Given the description of an element on the screen output the (x, y) to click on. 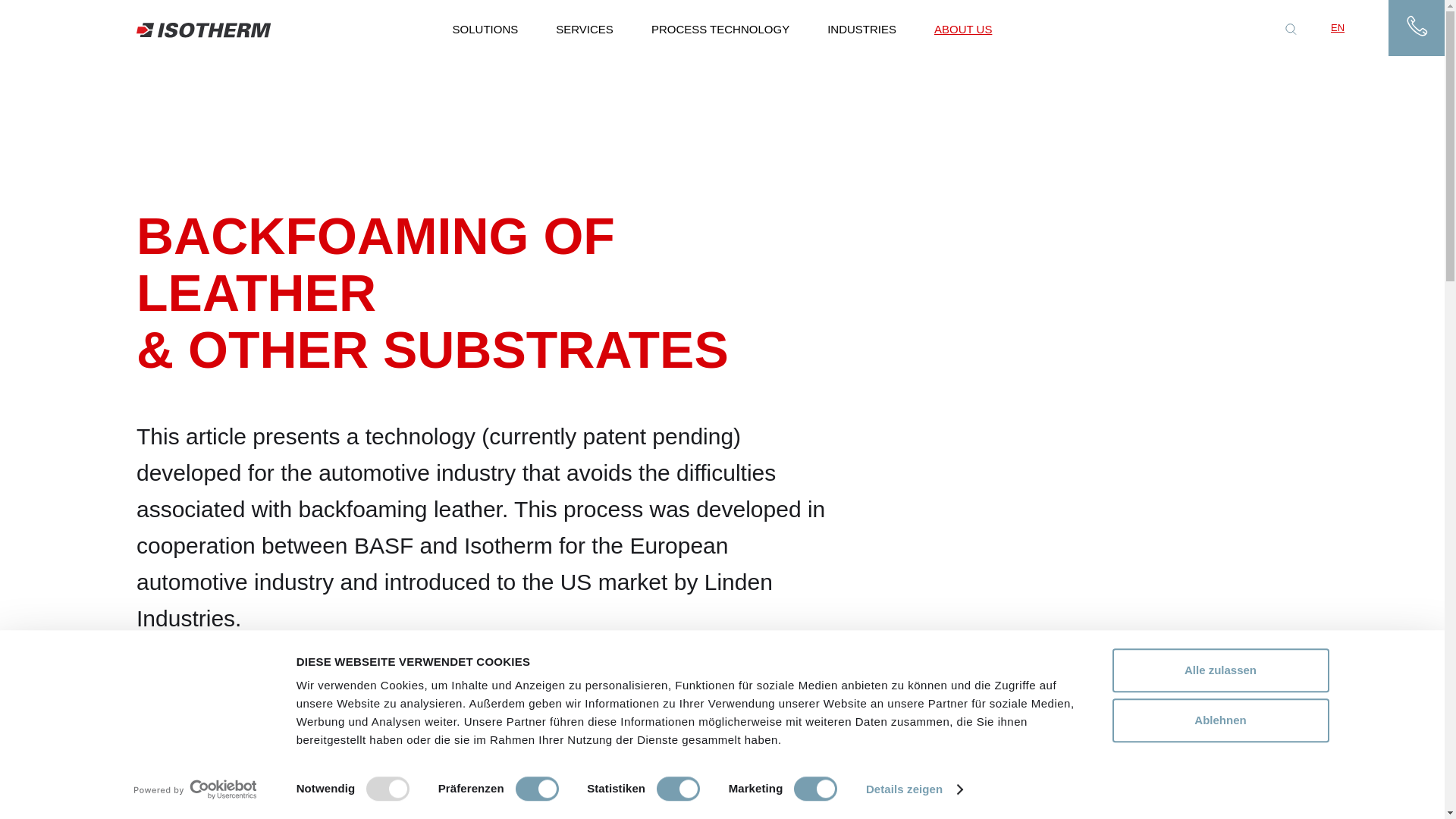
Change to language: German (1366, 27)
SOLUTIONS (485, 27)
Ablehnen (1219, 720)
Alle zulassen (1219, 670)
isotherm.ch (203, 32)
Details zeigen (914, 789)
isotherm.ch (203, 32)
